Given the description of an element on the screen output the (x, y) to click on. 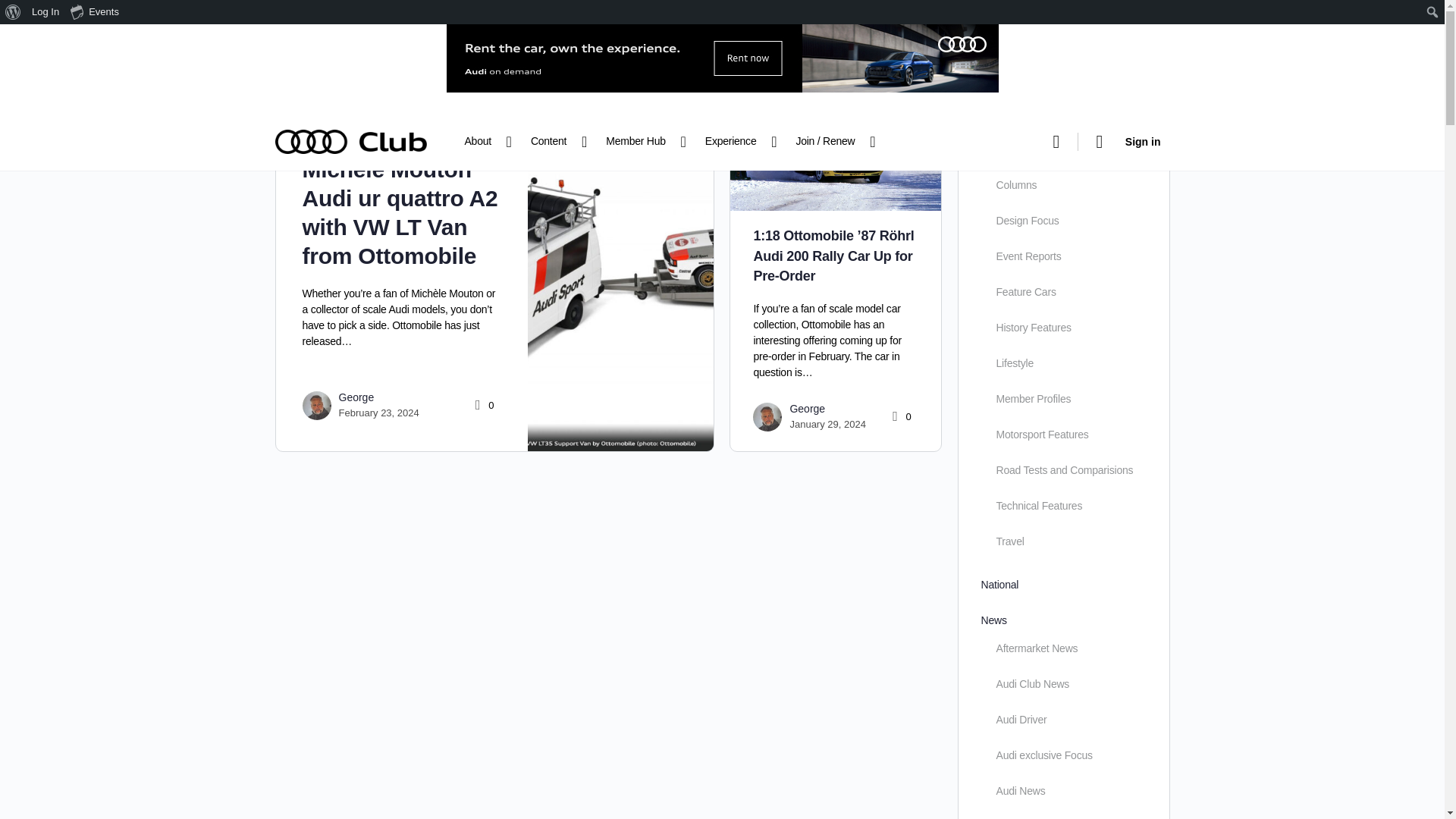
Member Hub (641, 141)
About (484, 141)
Events (95, 12)
Search (16, 12)
Content (554, 141)
Log In (45, 12)
